Given the description of an element on the screen output the (x, y) to click on. 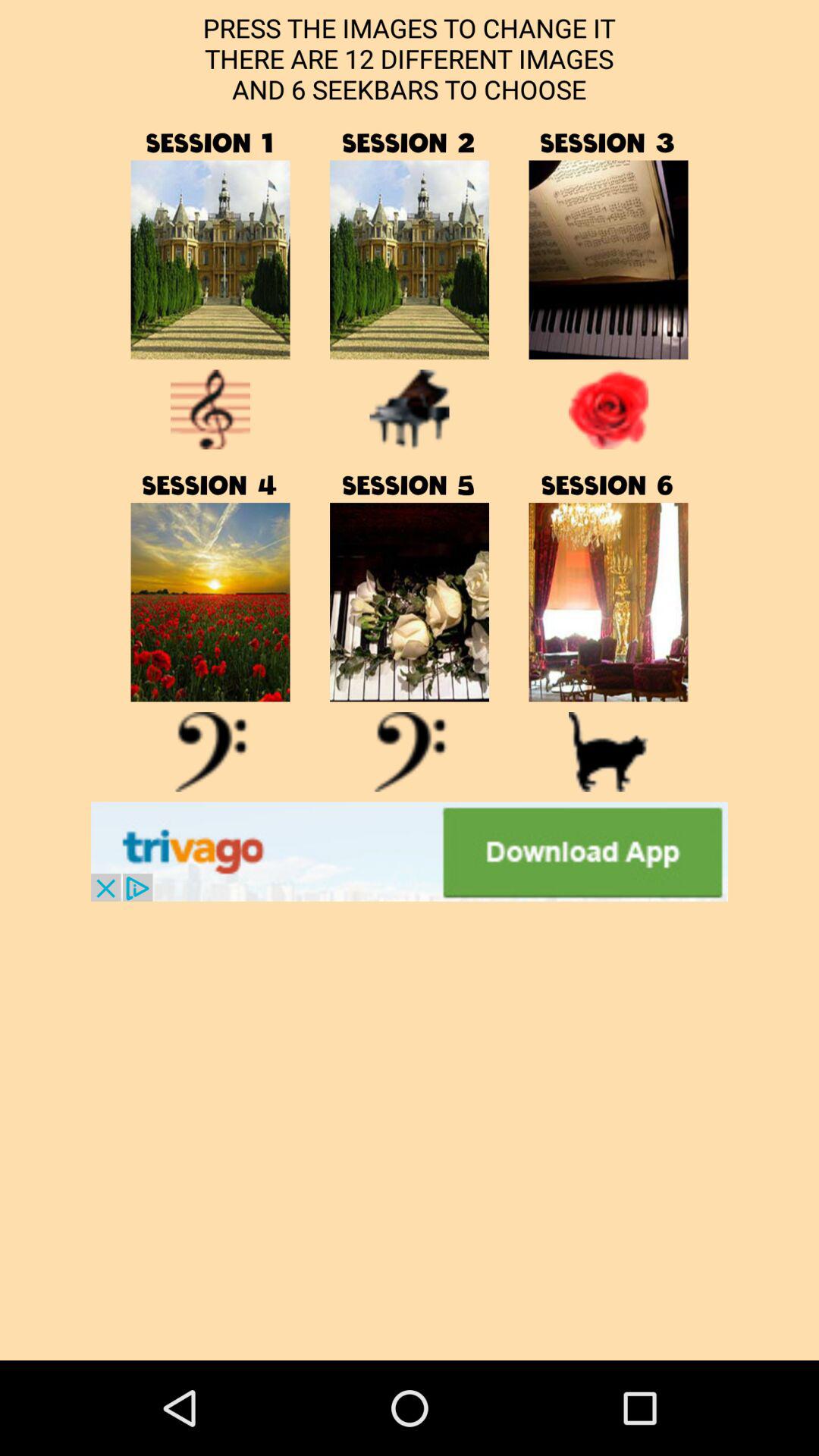
select session 1 (210, 259)
